Given the description of an element on the screen output the (x, y) to click on. 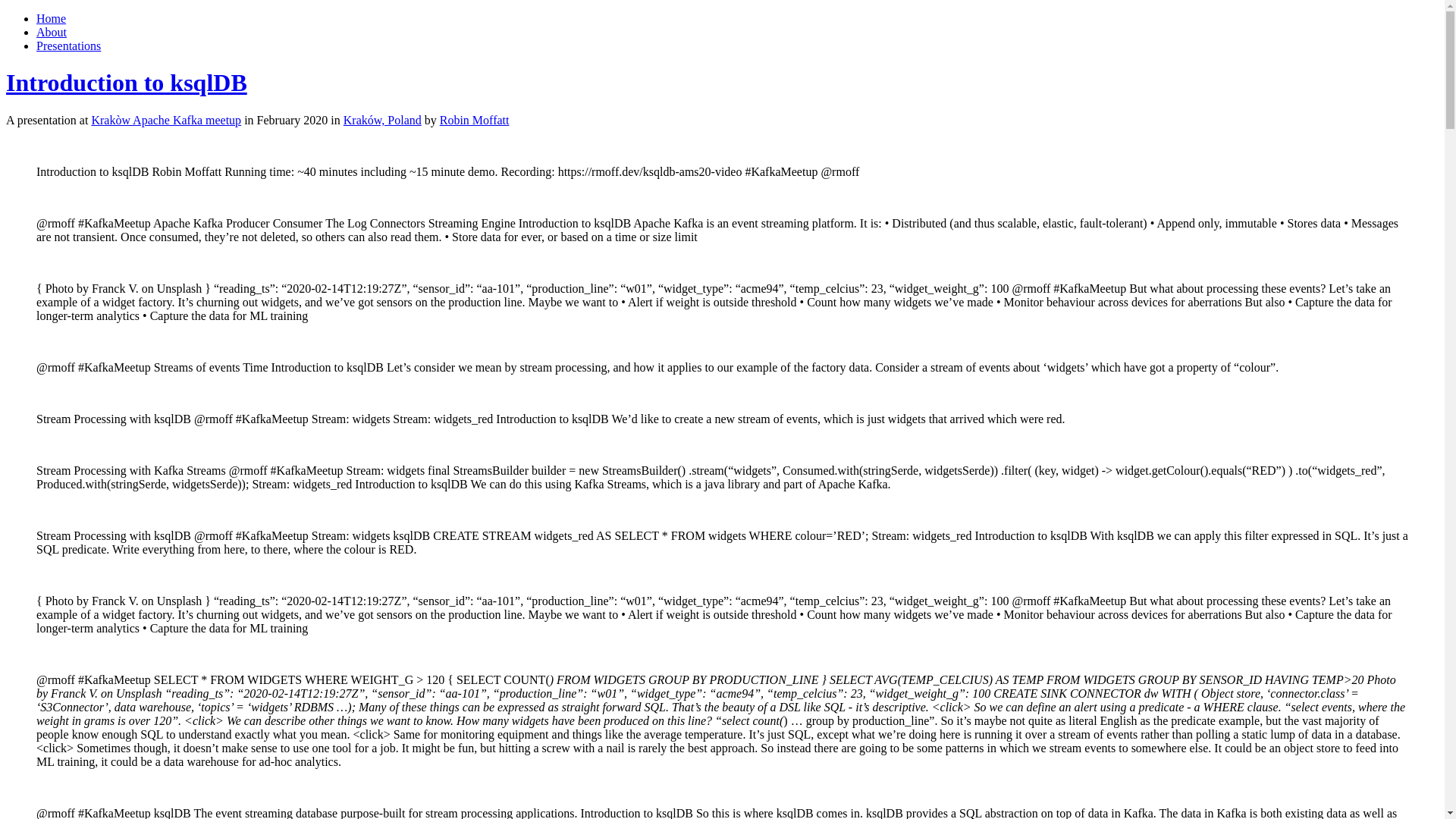
Robin Moffatt (474, 119)
Introduction to ksqlDB (126, 82)
Home (50, 18)
About (51, 31)
Presentations (68, 45)
